Given the description of an element on the screen output the (x, y) to click on. 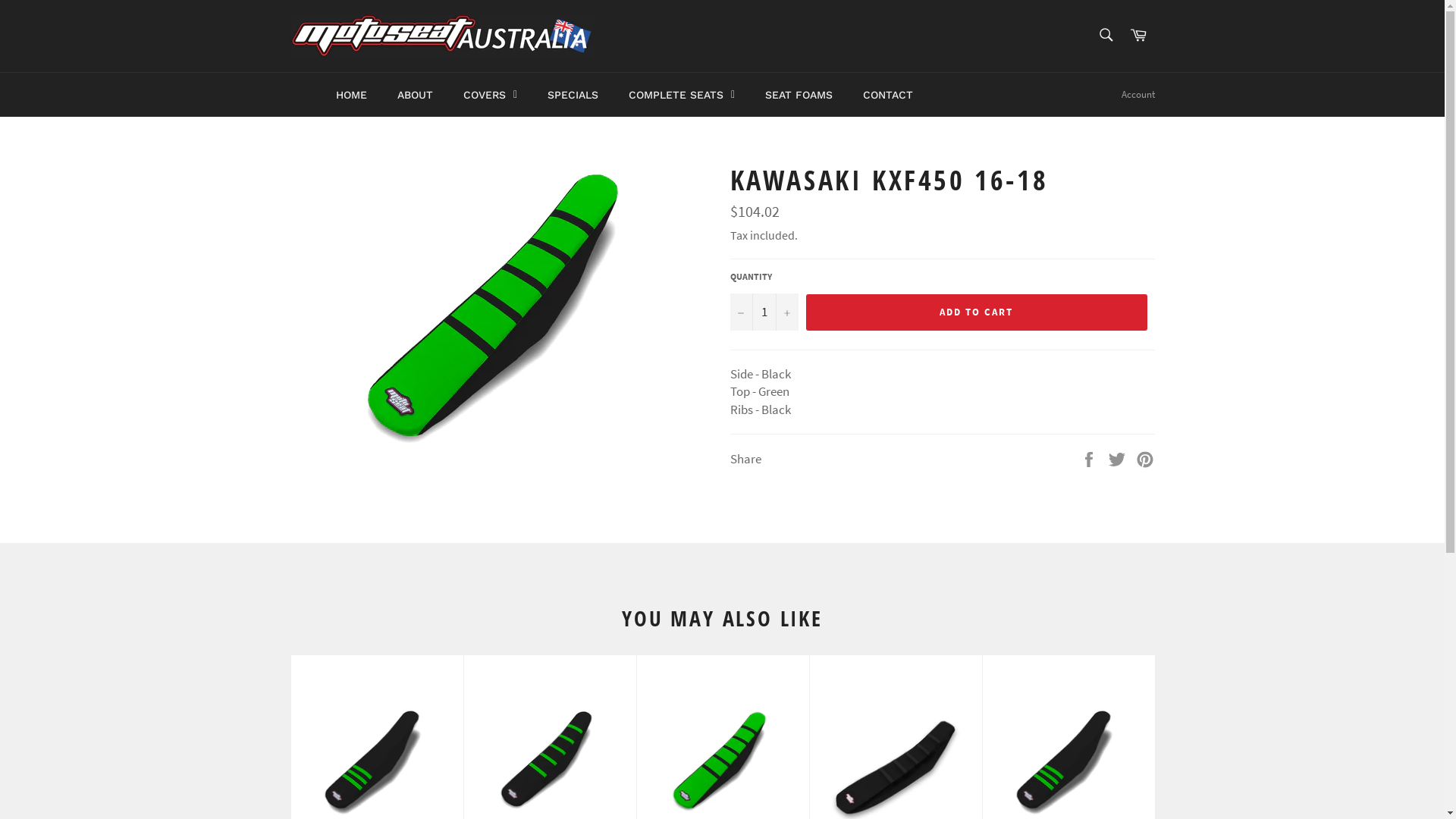
Account Element type: text (1137, 94)
+ Element type: text (786, 311)
HOME Element type: text (347, 94)
ADD TO CART Element type: text (975, 312)
Search Element type: text (1105, 34)
ABOUT Element type: text (415, 94)
SPECIALS Element type: text (572, 94)
COMPLETE SEATS Element type: text (681, 94)
Tweet on Twitter Element type: text (1117, 457)
Pin on Pinterest Element type: text (1144, 457)
CONTACT Element type: text (887, 94)
Cart Element type: text (1138, 35)
COVERS Element type: text (490, 94)
SEAT FOAMS Element type: text (798, 94)
Share on Facebook Element type: text (1089, 457)
